Given the description of an element on the screen output the (x, y) to click on. 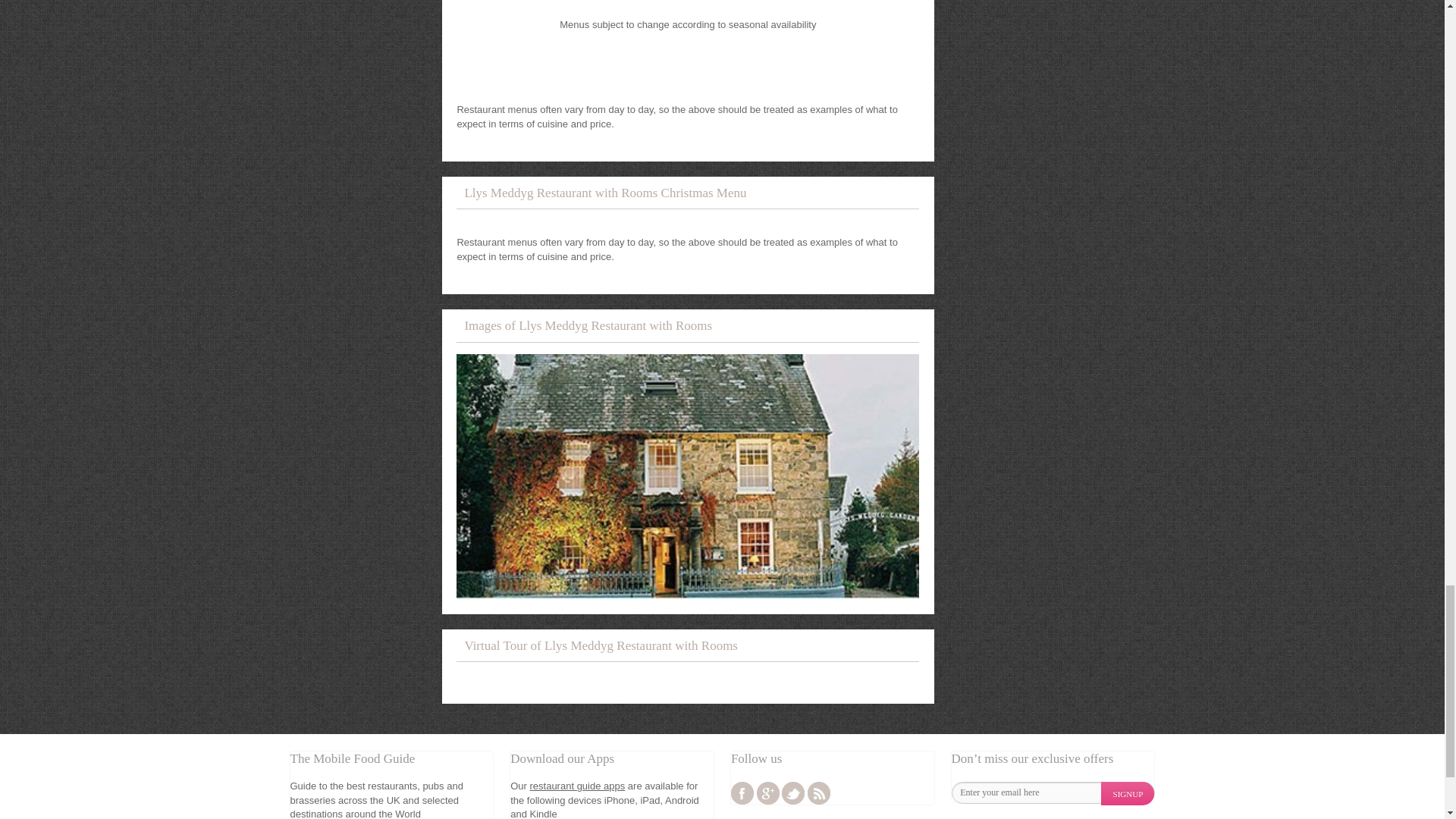
facebook (742, 793)
twitter (793, 793)
googleplus (767, 793)
Signup (1127, 793)
Blog (818, 793)
